Given the description of an element on the screen output the (x, y) to click on. 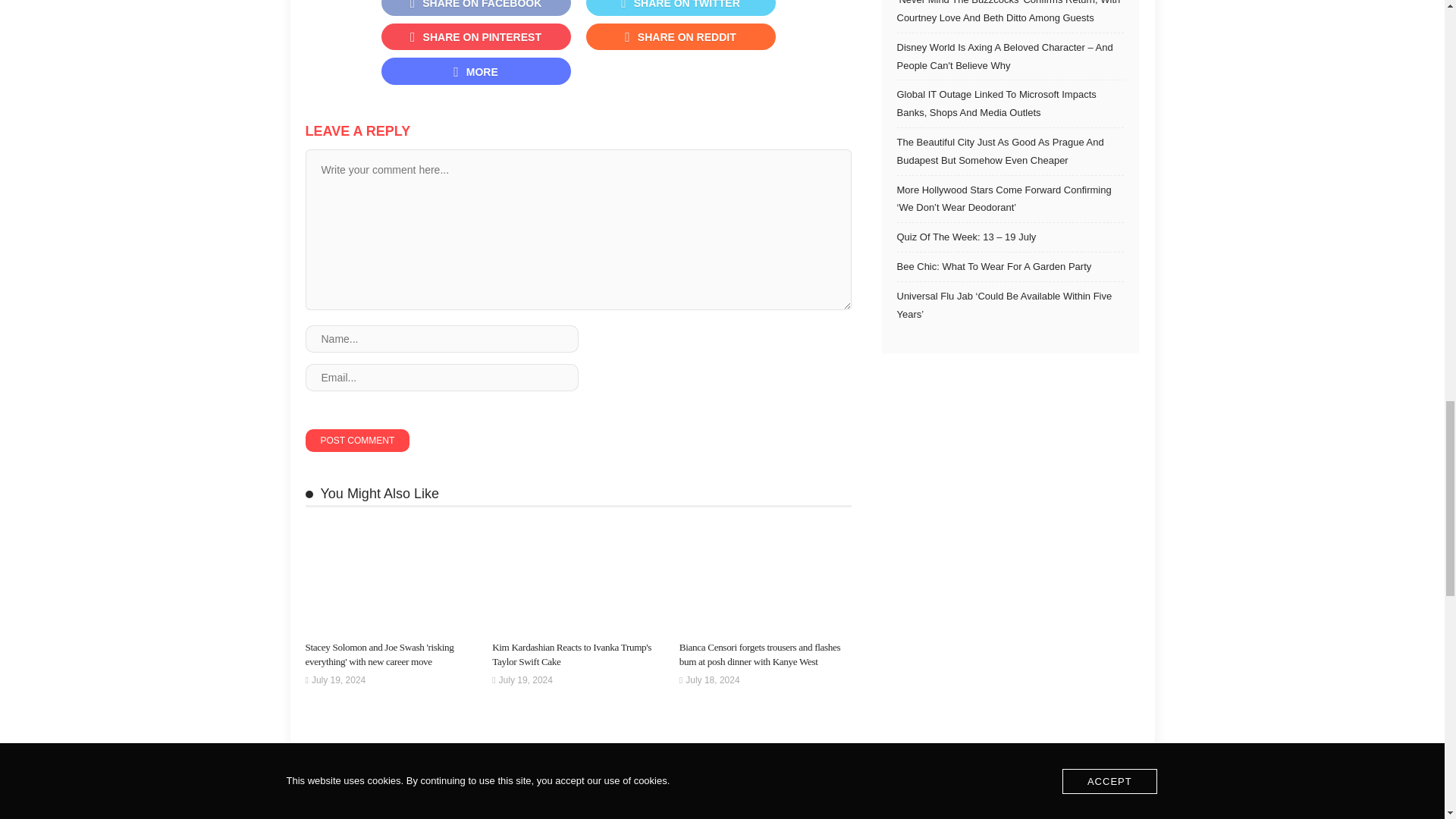
Post Comment (356, 440)
